Given the description of an element on the screen output the (x, y) to click on. 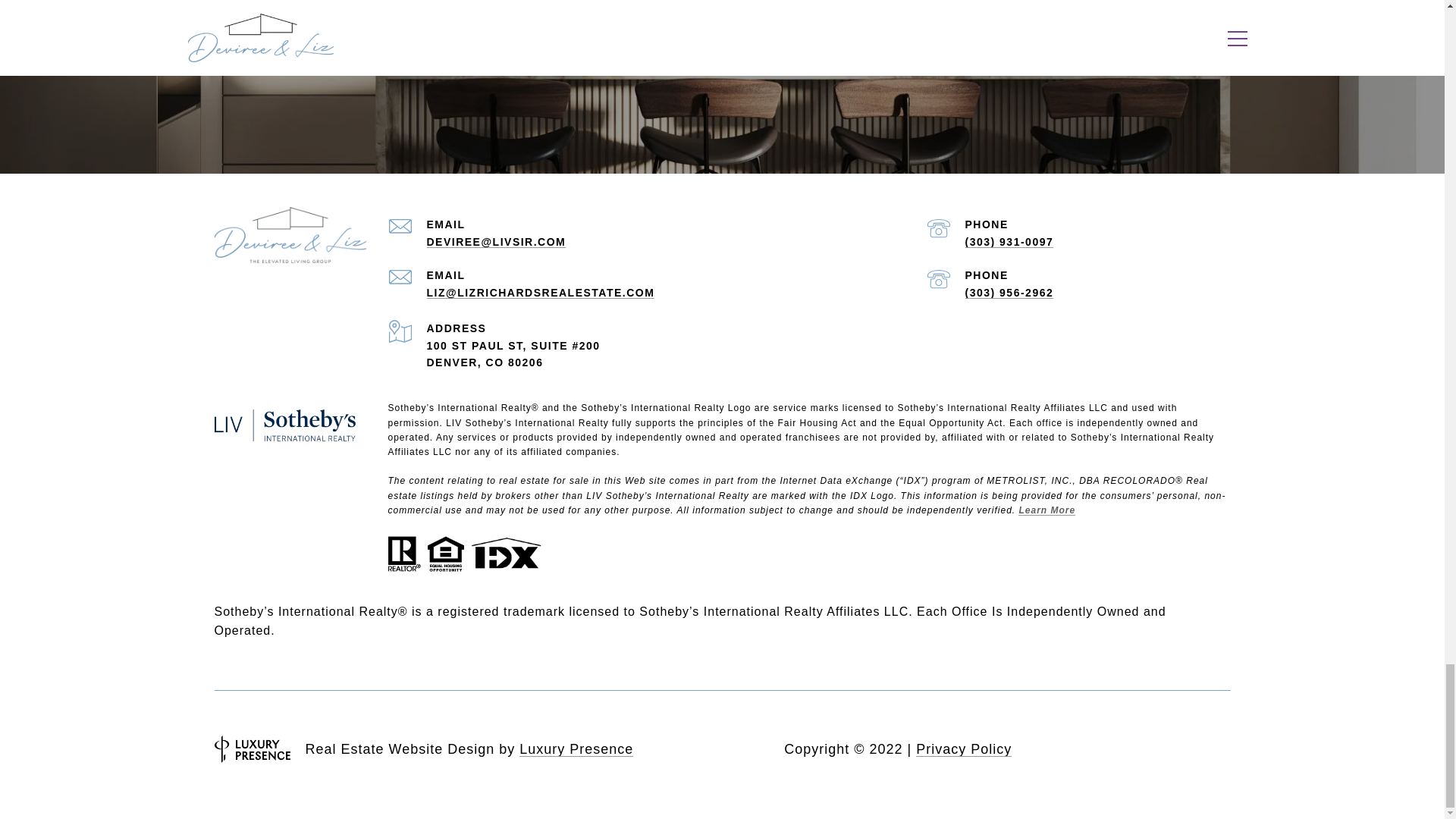
CONTACT US (722, 15)
